Given the description of an element on the screen output the (x, y) to click on. 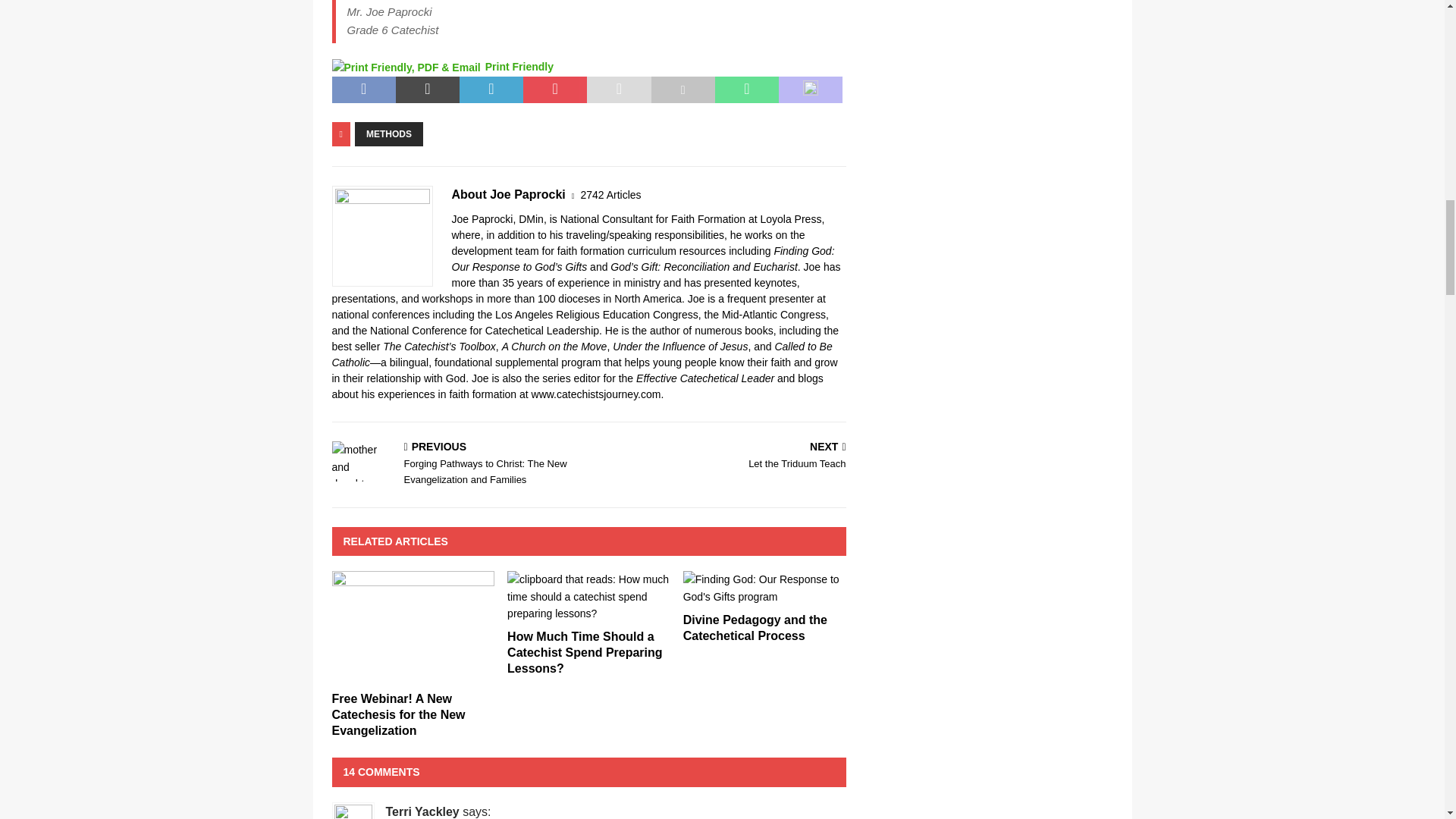
Tweet This Post (428, 90)
Share on LinkedIn (491, 90)
Share on Facebook (363, 90)
